Given the description of an element on the screen output the (x, y) to click on. 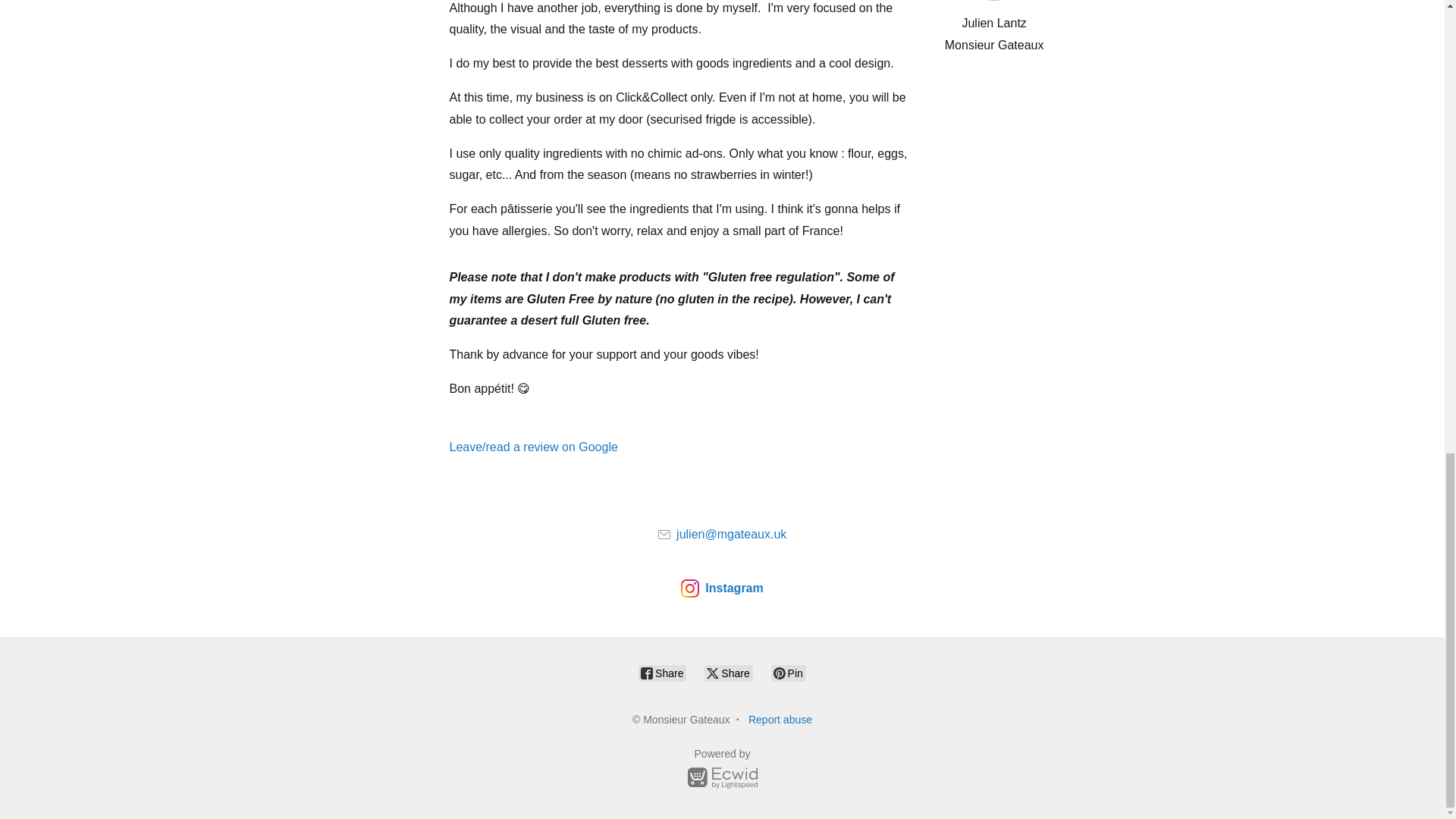
Report abuse (780, 719)
Pin (788, 673)
Share (662, 673)
Instagram (721, 588)
Powered by (722, 770)
Share (728, 673)
